Given the description of an element on the screen output the (x, y) to click on. 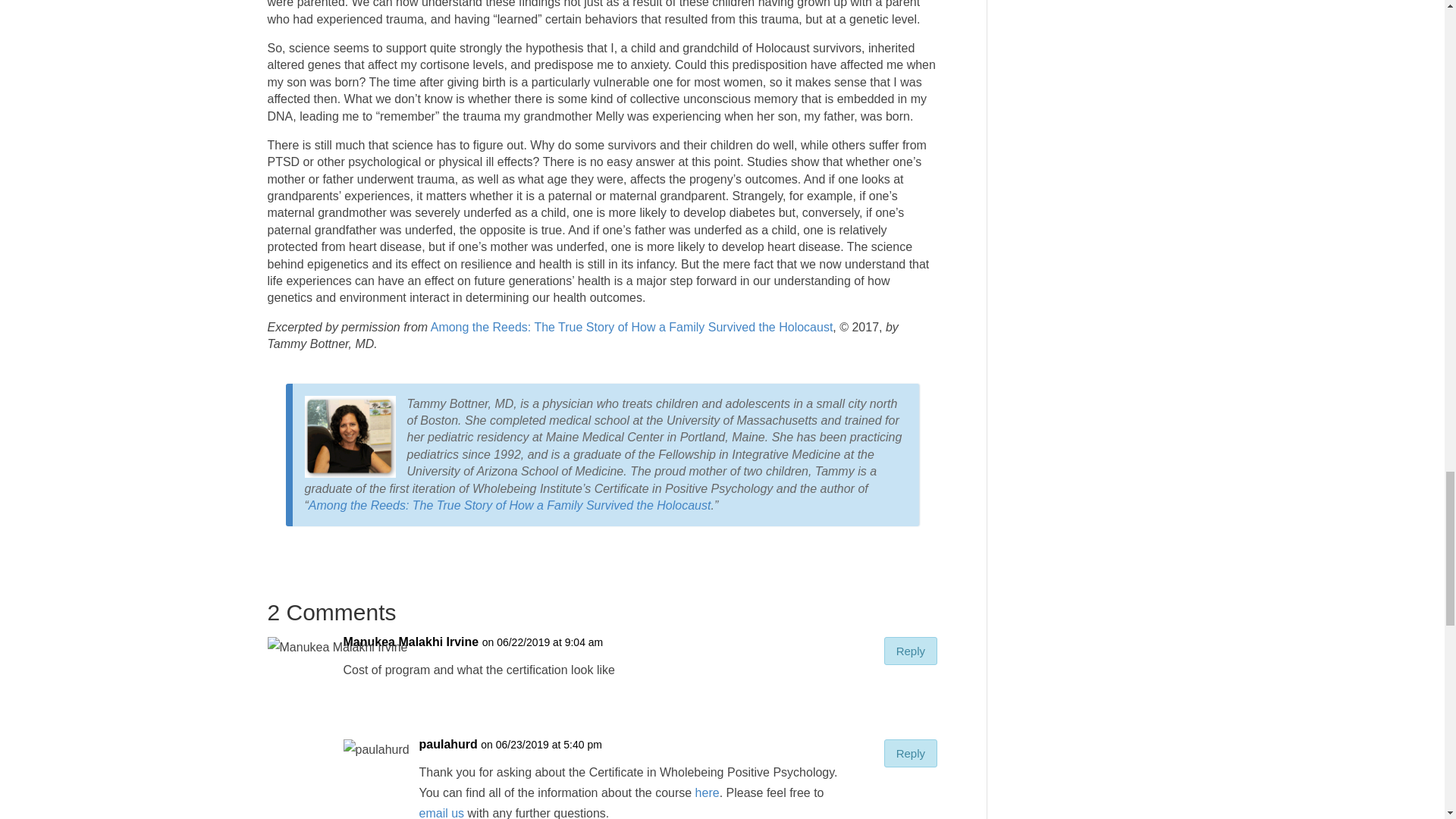
Reply (910, 753)
Reply (910, 651)
email us (441, 812)
here (707, 792)
